Given the description of an element on the screen output the (x, y) to click on. 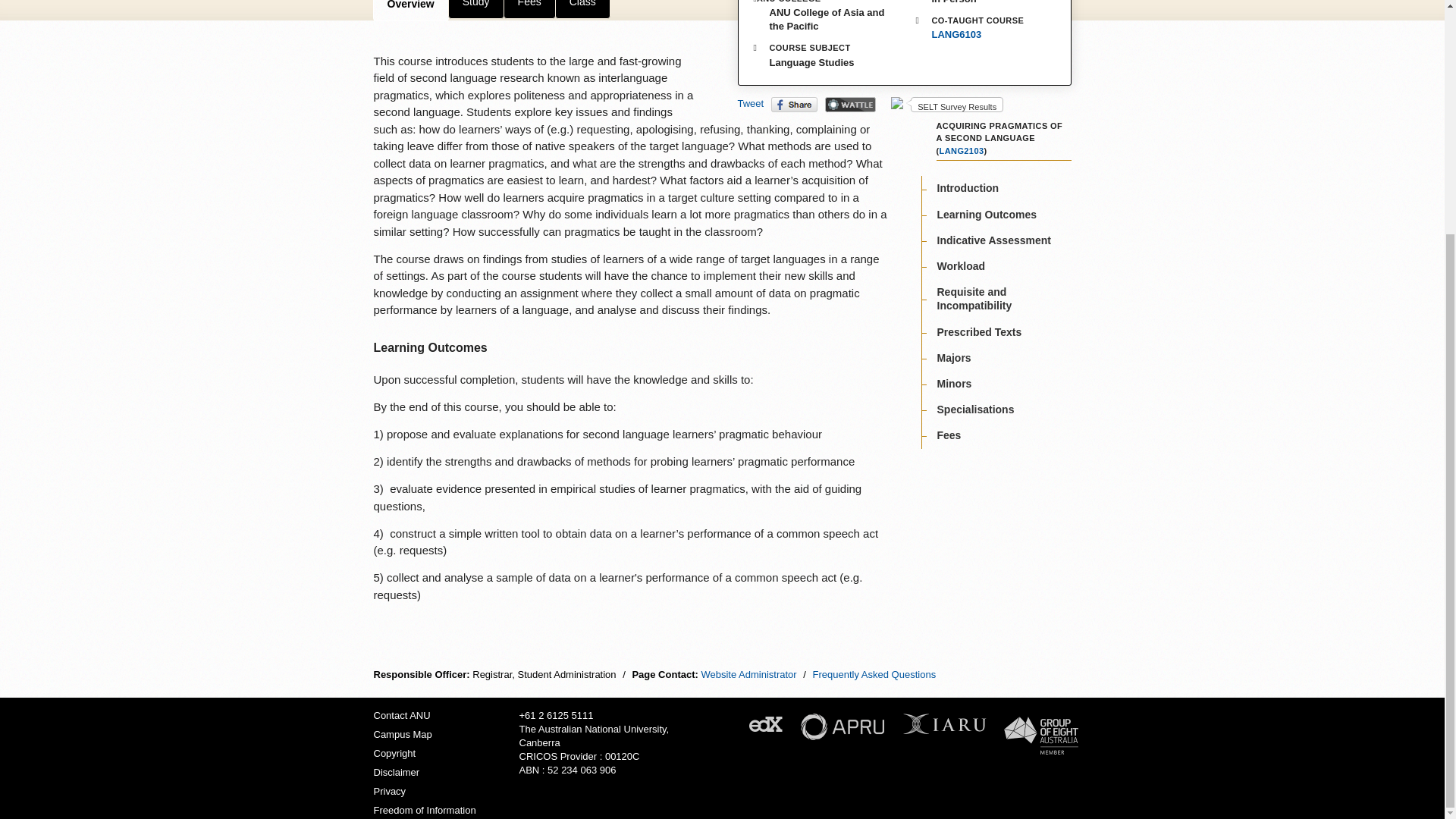
Fees (529, 9)
Overview (410, 10)
Introduction (967, 187)
LANG6103 (956, 34)
Learning Outcomes (986, 214)
Class (582, 9)
Tweet (749, 102)
Wattle Share (850, 104)
Share on Facebook (793, 104)
LANG2103 (961, 150)
Study (475, 9)
